Given the description of an element on the screen output the (x, y) to click on. 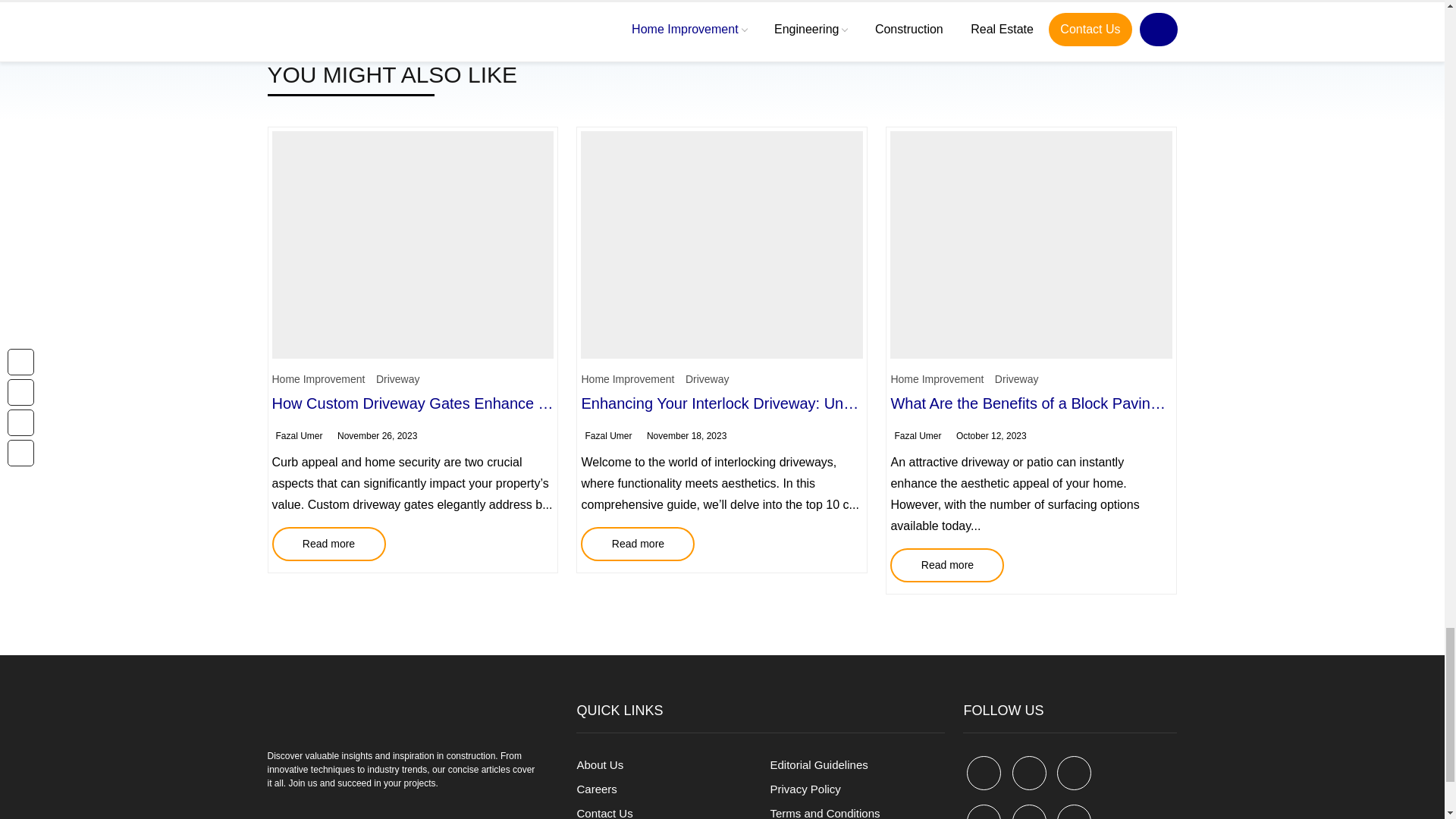
youtube (983, 811)
instagram (1073, 811)
twitter (1028, 772)
tiktok (1028, 811)
pinterest (1073, 772)
facebook (983, 772)
